Given the description of an element on the screen output the (x, y) to click on. 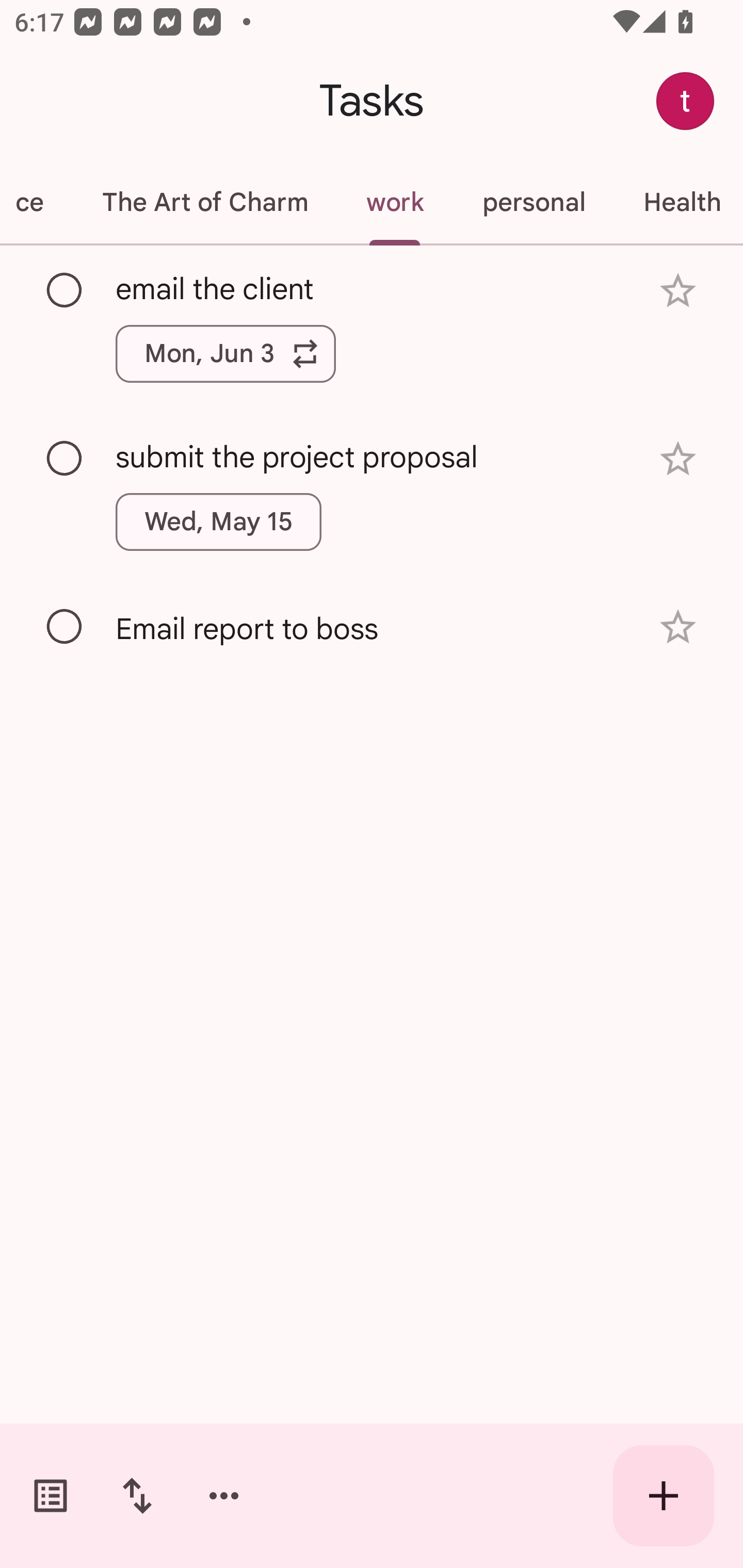
The Art of Charm (204, 202)
personal (533, 202)
Health (678, 202)
Add star (677, 290)
Mark as complete (64, 290)
Mon, Jun 3 (225, 353)
Add star (677, 458)
Mark as complete (64, 459)
Wed, May 15 (218, 522)
Add star (677, 627)
Mark as complete (64, 627)
Switch task lists (50, 1495)
Create new task (663, 1495)
Change sort order (136, 1495)
More options (223, 1495)
